Given the description of an element on the screen output the (x, y) to click on. 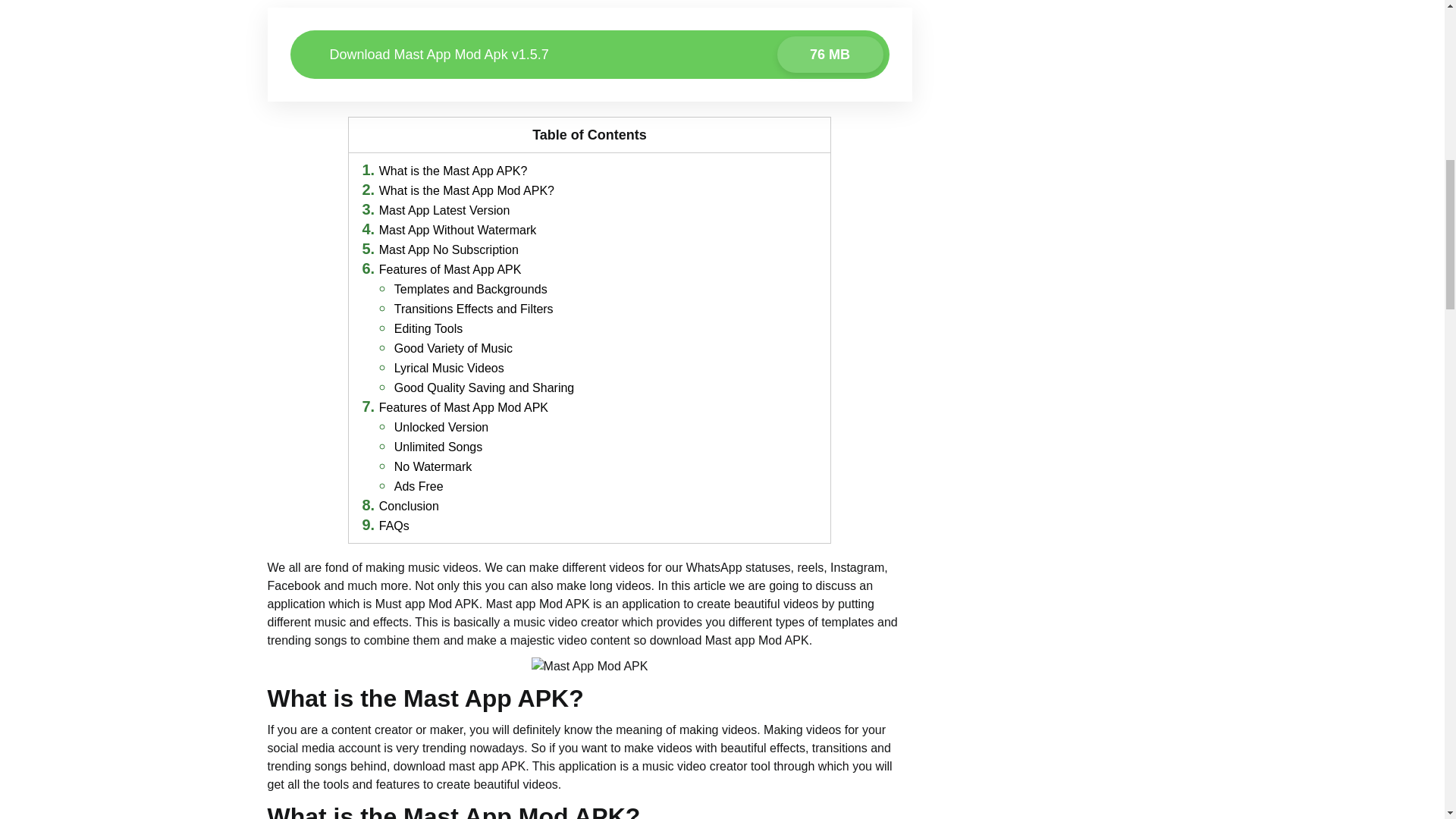
No Watermark (432, 466)
Unlocked Version (441, 427)
Editing Tools (428, 328)
Lyrical Music Videos (448, 367)
Mast App Without Watermark (456, 229)
What is the Mast App Mod APK? (466, 190)
Features of Mast App APK (449, 269)
Unlimited Songs (438, 446)
What is the Mast App APK? (452, 170)
Conclusion (408, 505)
Features of Mast App Mod APK (463, 407)
Templates and Backgrounds (588, 54)
Good Quality Saving and Sharing (470, 288)
Mast App No Subscription (483, 387)
